Given the description of an element on the screen output the (x, y) to click on. 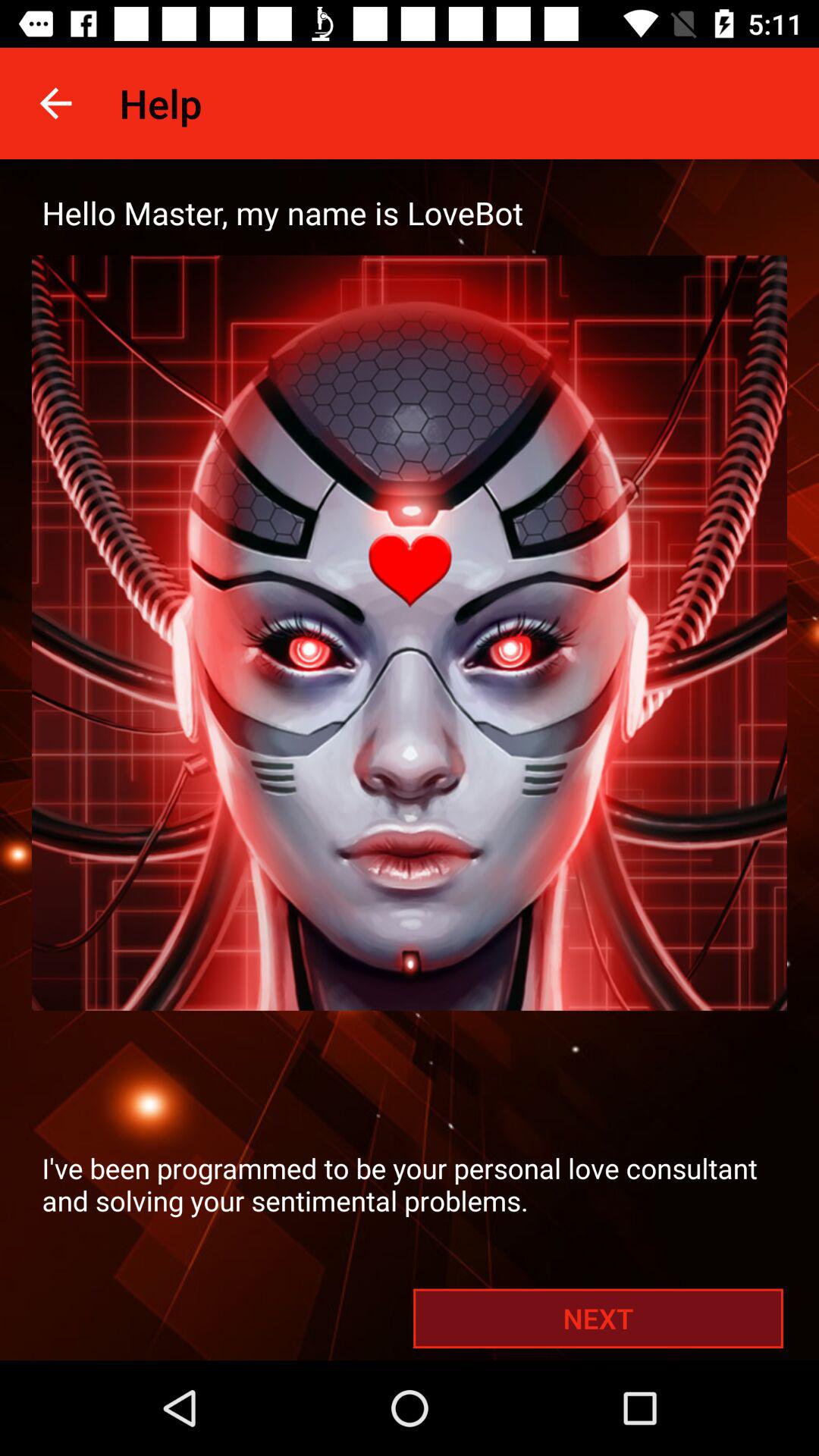
tap the app to the left of the help item (55, 103)
